Given the description of an element on the screen output the (x, y) to click on. 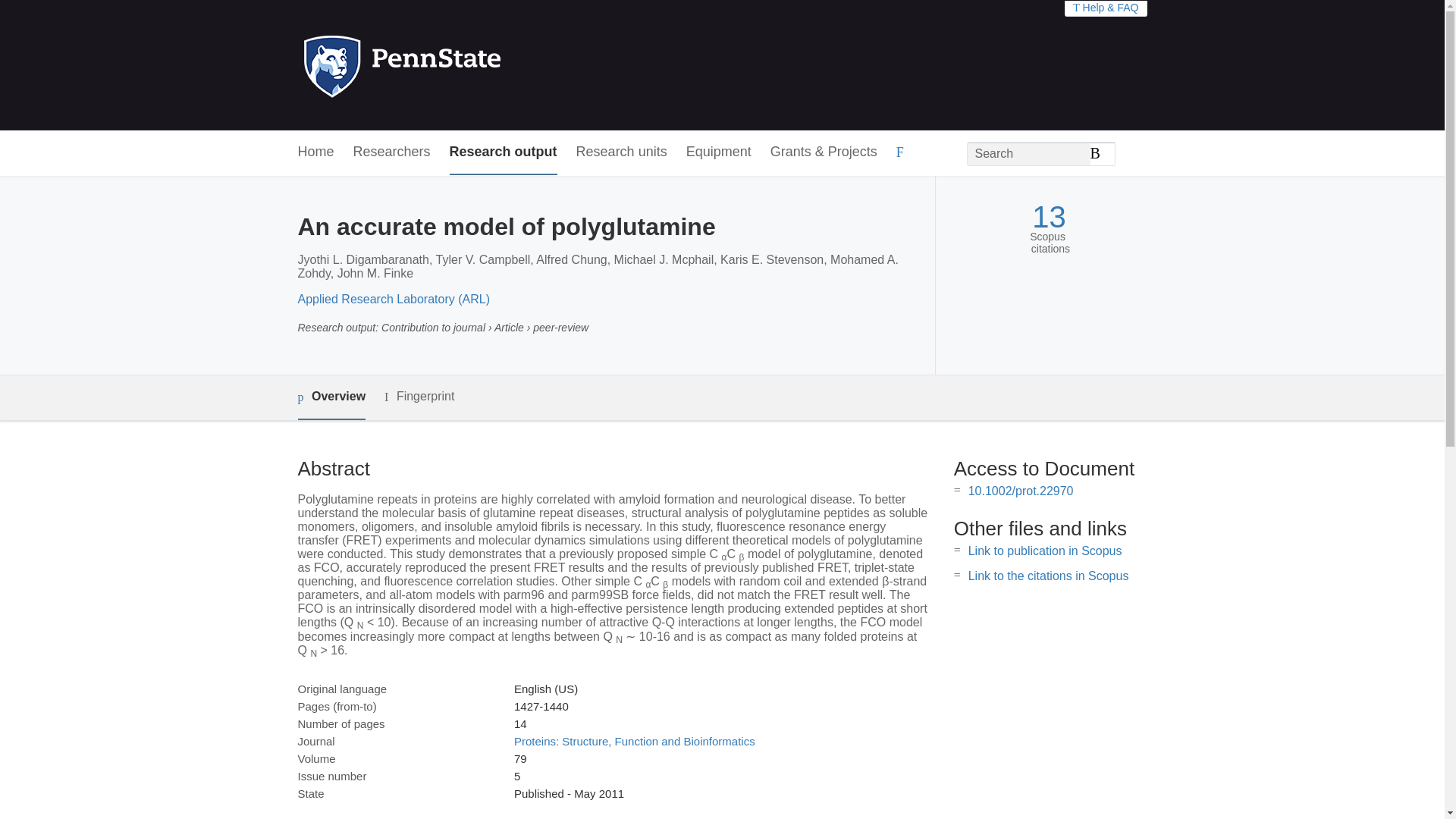
Research output (503, 152)
13 (1048, 216)
Penn State Home (467, 65)
Research units (621, 152)
Equipment (718, 152)
Proteins: Structure, Function and Bioinformatics (634, 740)
Home (315, 152)
Link to publication in Scopus (1045, 550)
Researchers (391, 152)
Link to the citations in Scopus (1048, 575)
Overview (331, 397)
Fingerprint (419, 396)
